Given the description of an element on the screen output the (x, y) to click on. 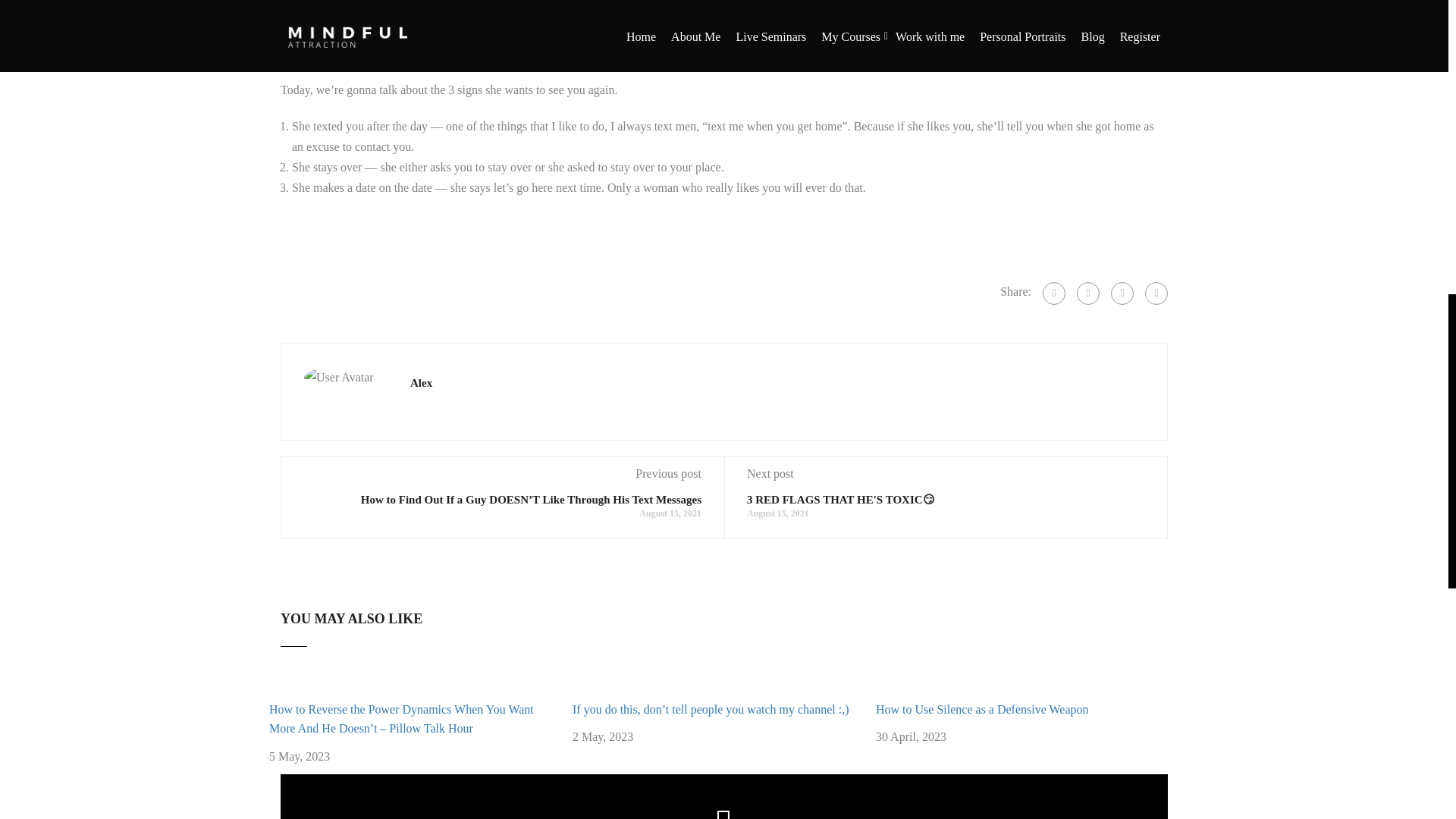
Alex (421, 382)
Facebook (1053, 292)
Google Plus (1088, 292)
Twitter (1122, 292)
How to Use Silence as a Defensive Weapon (982, 708)
3 SIGNS SHE WANTS TO SEE YOU AGAIN (724, 33)
How to Use Silence as a Defensive Weapon (982, 708)
Pinterest (1155, 292)
